Given the description of an element on the screen output the (x, y) to click on. 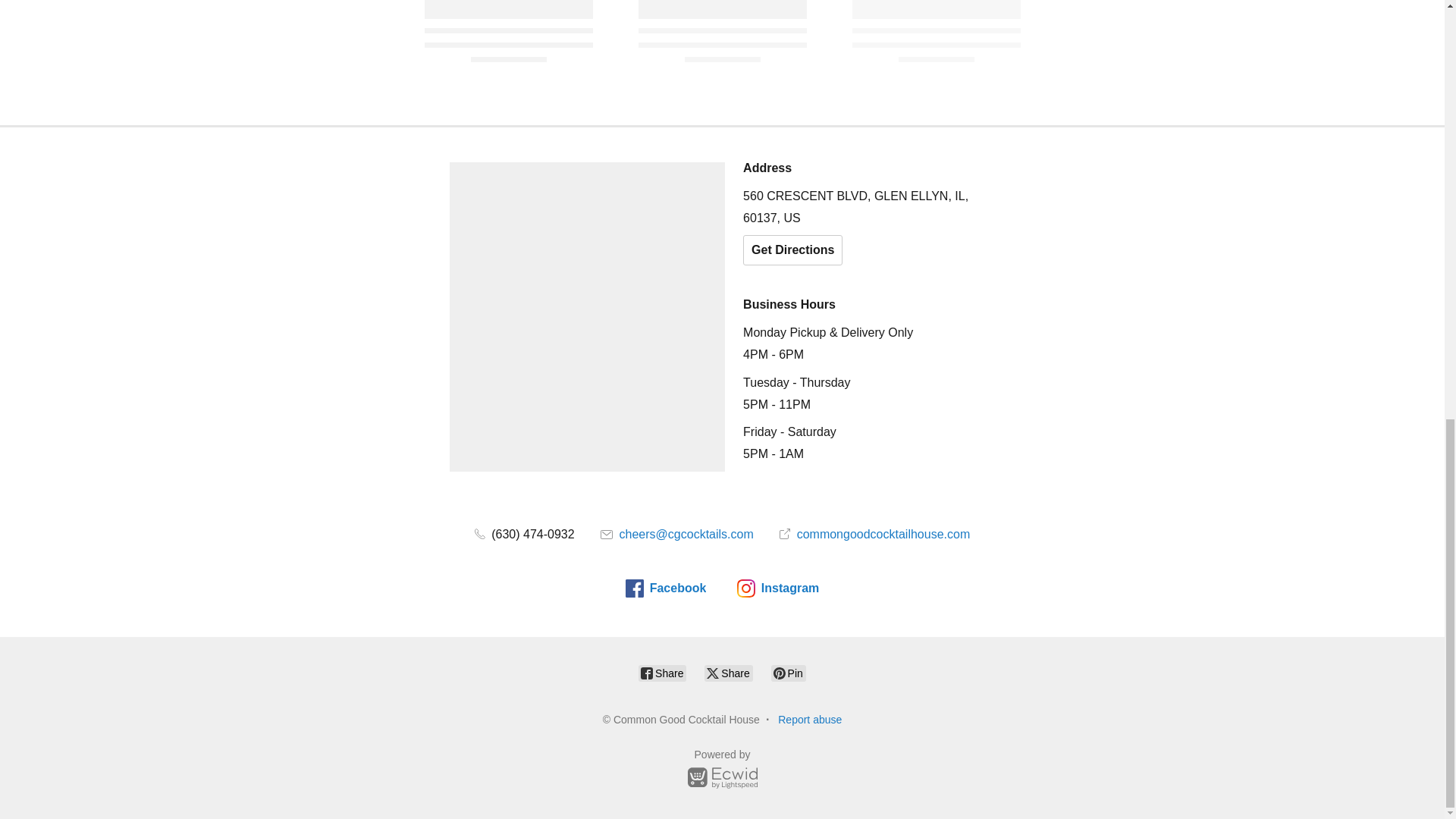
Report abuse (809, 719)
Powered by (722, 771)
Instagram (777, 588)
Location on map (586, 316)
Share (728, 673)
Share (662, 673)
Get Directions (792, 250)
commongoodcocktailhouse.com (873, 533)
Facebook (666, 588)
Pin (788, 673)
